Given the description of an element on the screen output the (x, y) to click on. 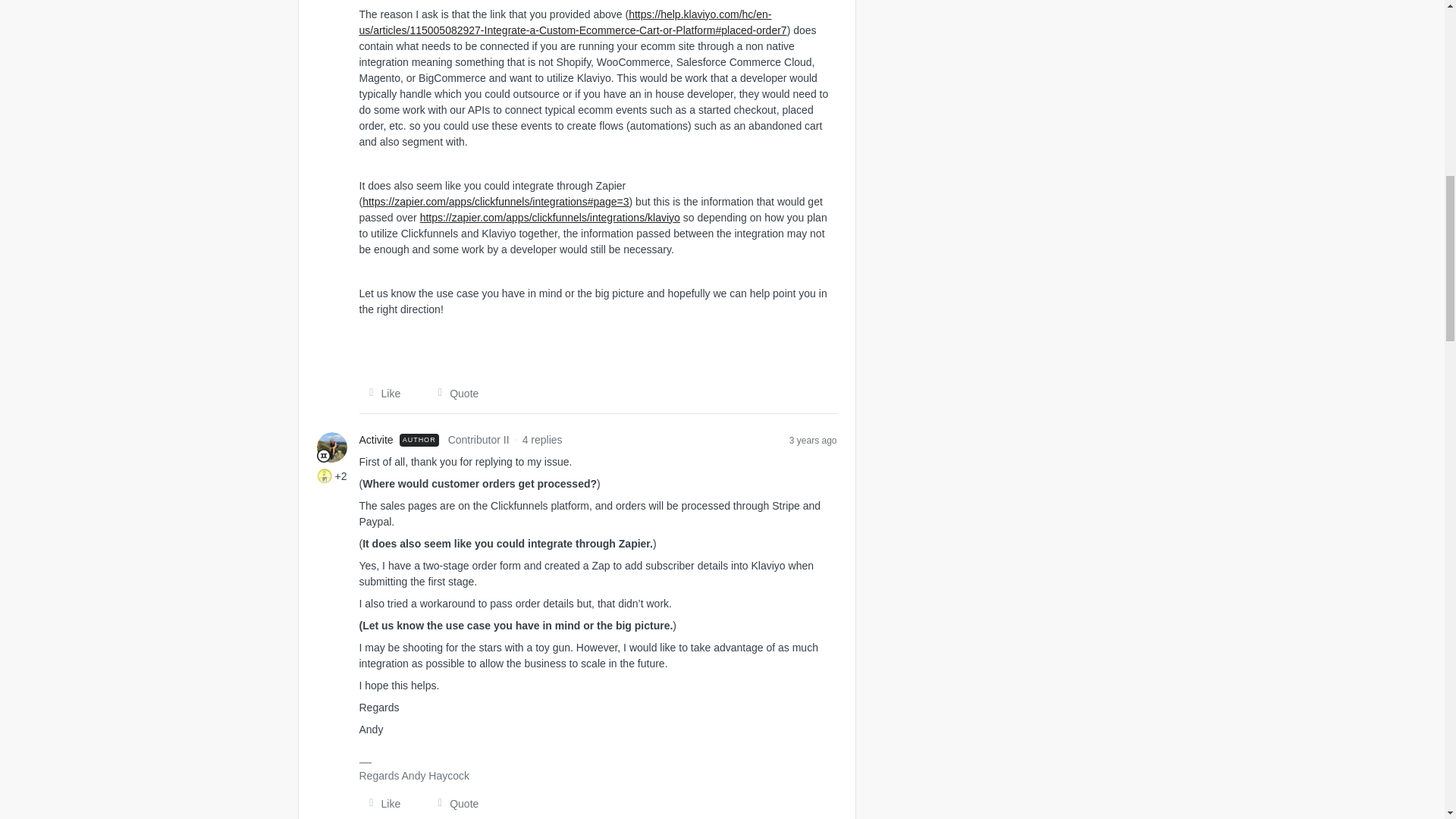
Activite (376, 439)
Like (380, 393)
3 years ago (813, 439)
Contributor II (323, 455)
Like (380, 803)
Anniversary - 2 years (324, 476)
Quote (453, 803)
Activite (376, 439)
Quote (453, 393)
